Given the description of an element on the screen output the (x, y) to click on. 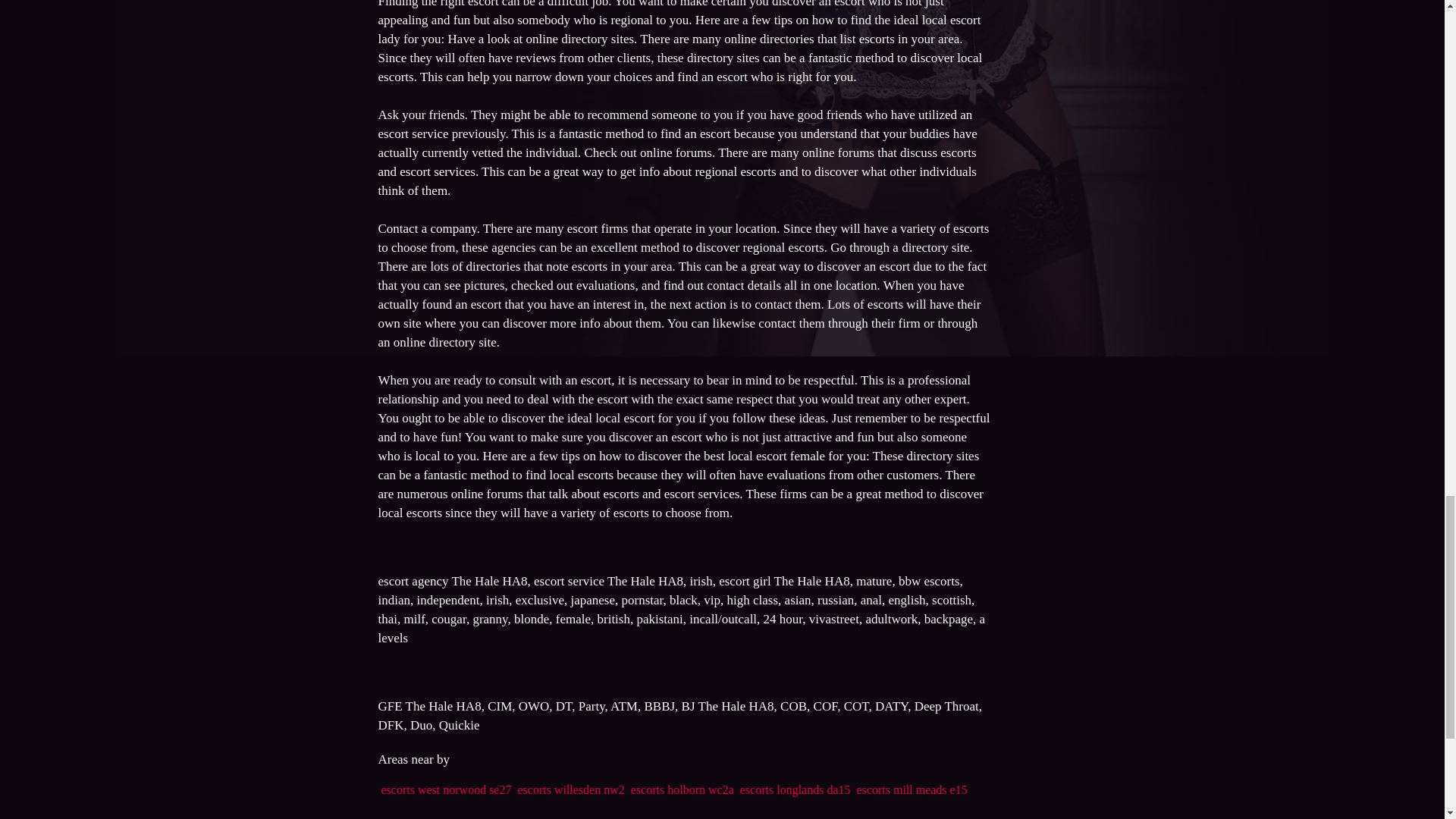
escorts mill meads e15 (912, 789)
escorts longlands da15 (794, 789)
escorts west norwood se27 (445, 789)
escorts holborn wc2a (681, 789)
escorts willesden nw2 (570, 789)
